Given the description of an element on the screen output the (x, y) to click on. 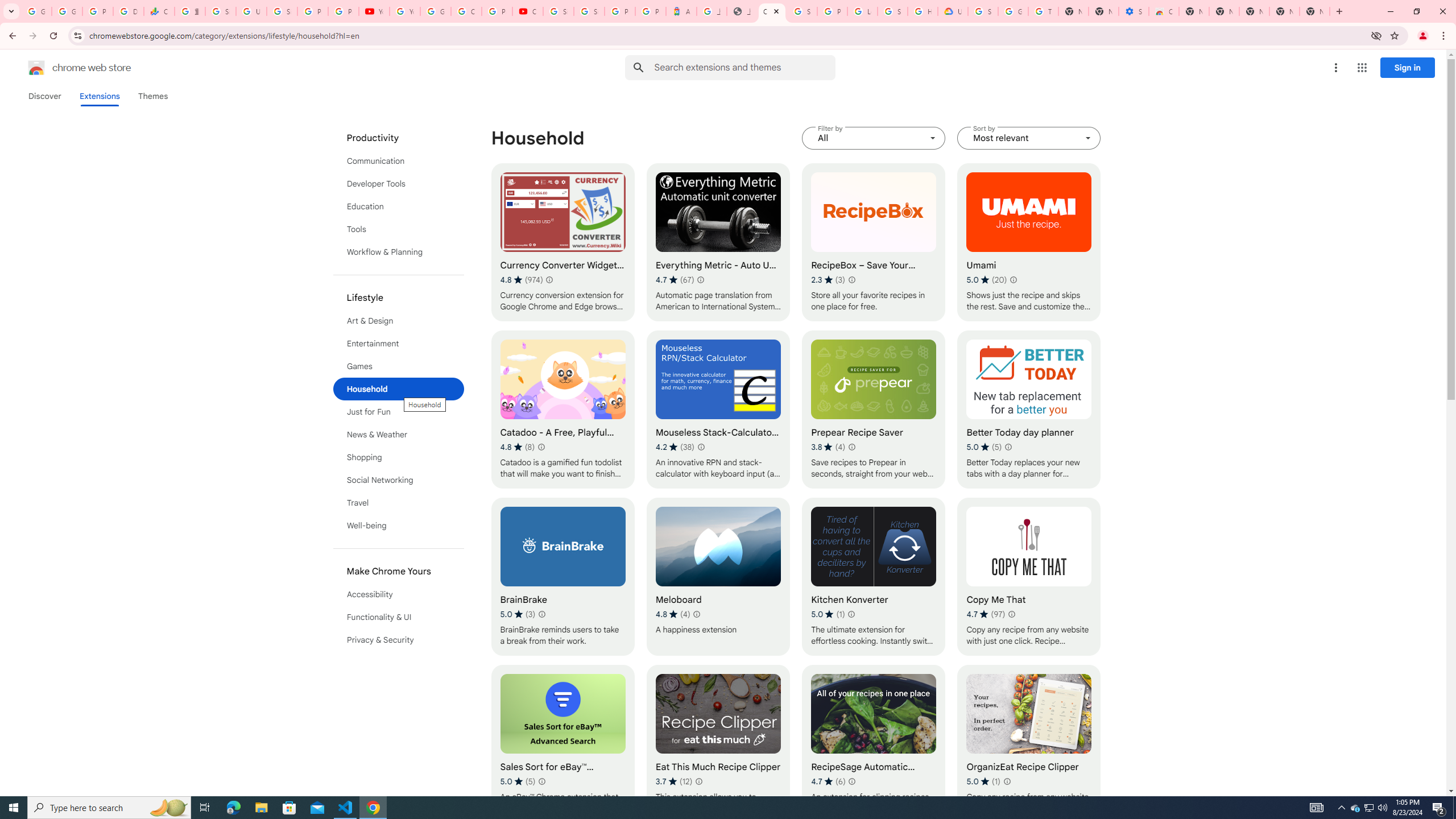
YouTube (373, 11)
YouTube (404, 11)
New Tab (1193, 11)
Average rating 5 out of 5 stars. 1 rating. (983, 781)
Learn more about results and reviews "Copy Me That" (1010, 613)
Just for Fun (398, 411)
Filter by All (874, 137)
BrainBrake (562, 576)
Shopping (398, 456)
Google Account Help (1012, 11)
Privacy Checkup (343, 11)
